Given the description of an element on the screen output the (x, y) to click on. 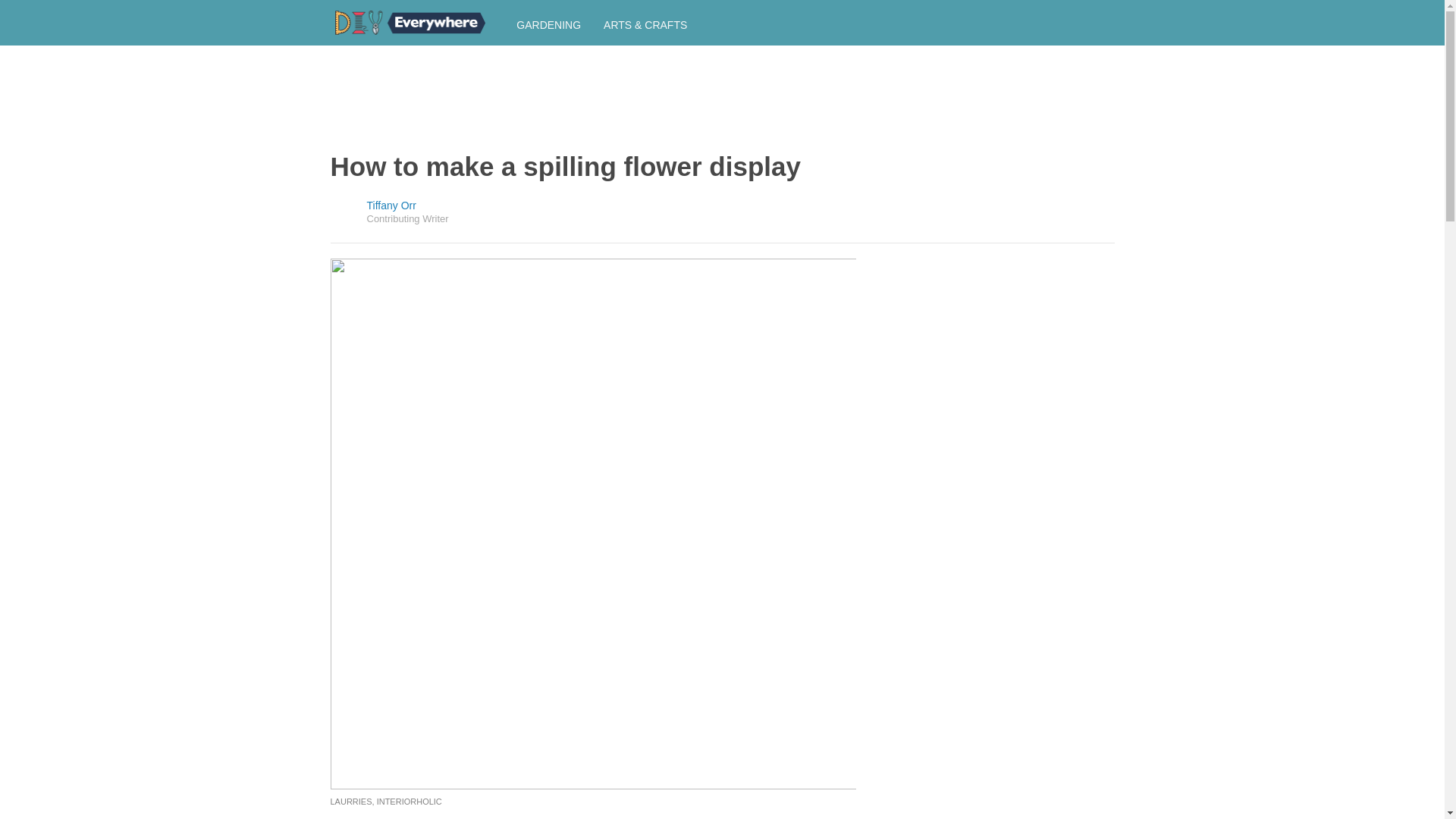
GARDENING (548, 24)
